Given the description of an element on the screen output the (x, y) to click on. 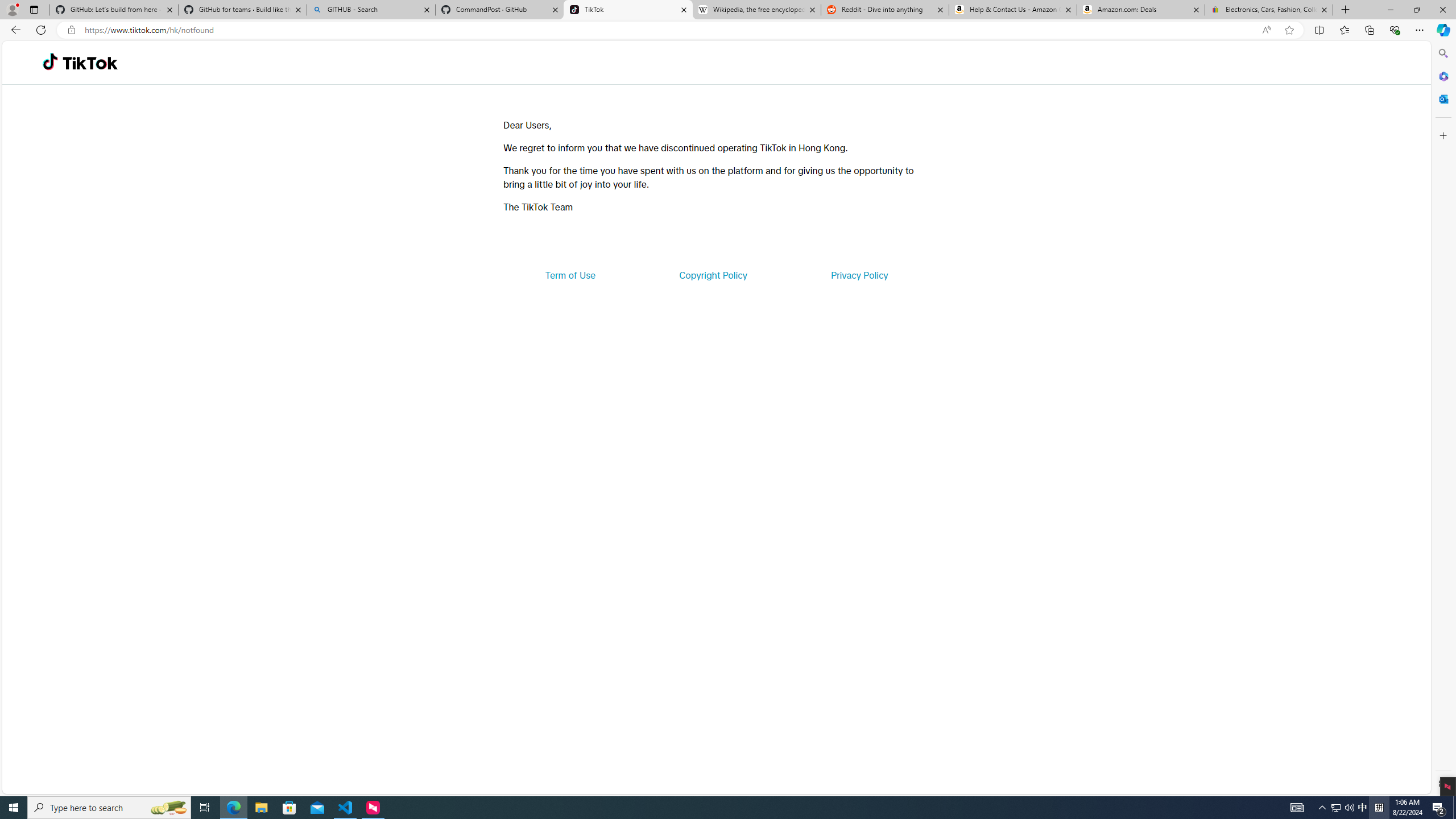
Help & Contact Us - Amazon Customer Service (1012, 9)
Term of Use (569, 274)
Microsoft 365 (1442, 76)
Back (13, 29)
Search (1442, 53)
Copilot (Ctrl+Shift+.) (1442, 29)
Favorites (1344, 29)
Tab actions menu (33, 9)
Side bar (1443, 418)
Address and search bar (669, 29)
Settings (1442, 783)
Read aloud this page (Ctrl+Shift+U) (1266, 29)
Wikipedia, the free encyclopedia (756, 9)
